Given the description of an element on the screen output the (x, y) to click on. 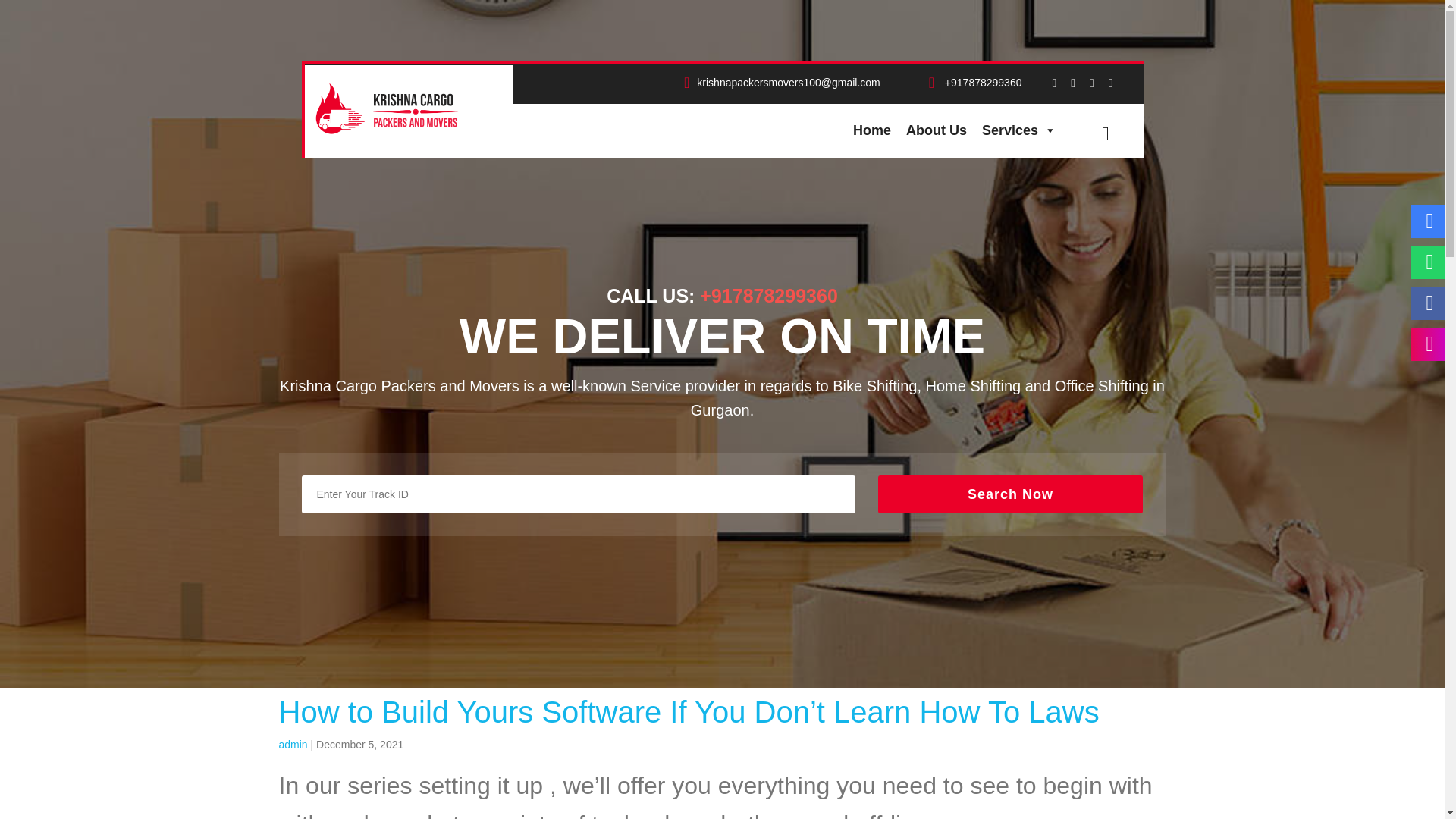
Search Now (1009, 494)
Posts by admin (293, 744)
Home (871, 130)
Services (1019, 130)
Search Now (1009, 494)
About Us (936, 130)
admin (293, 744)
